Given the description of an element on the screen output the (x, y) to click on. 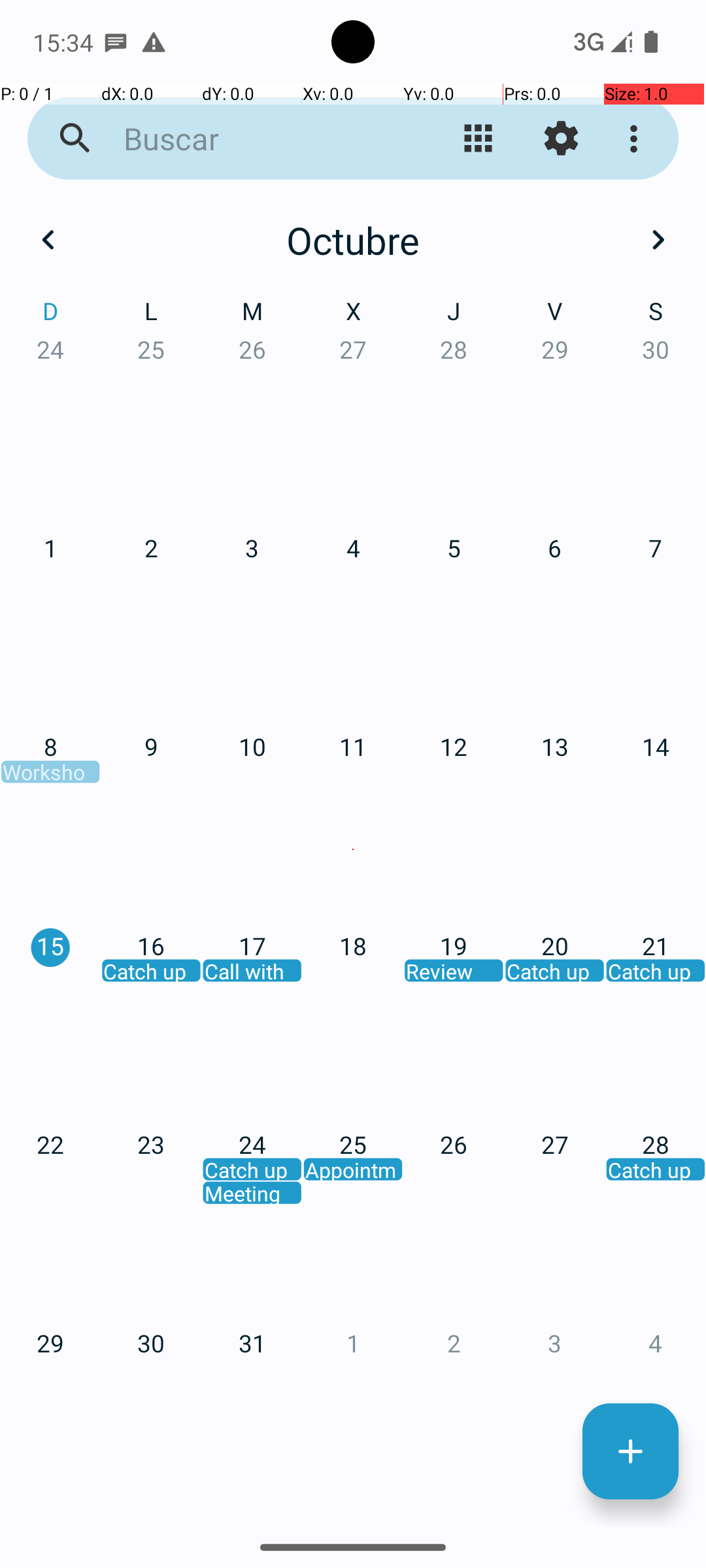
Octubre Element type: android.widget.TextView (352, 239)
